Given the description of an element on the screen output the (x, y) to click on. 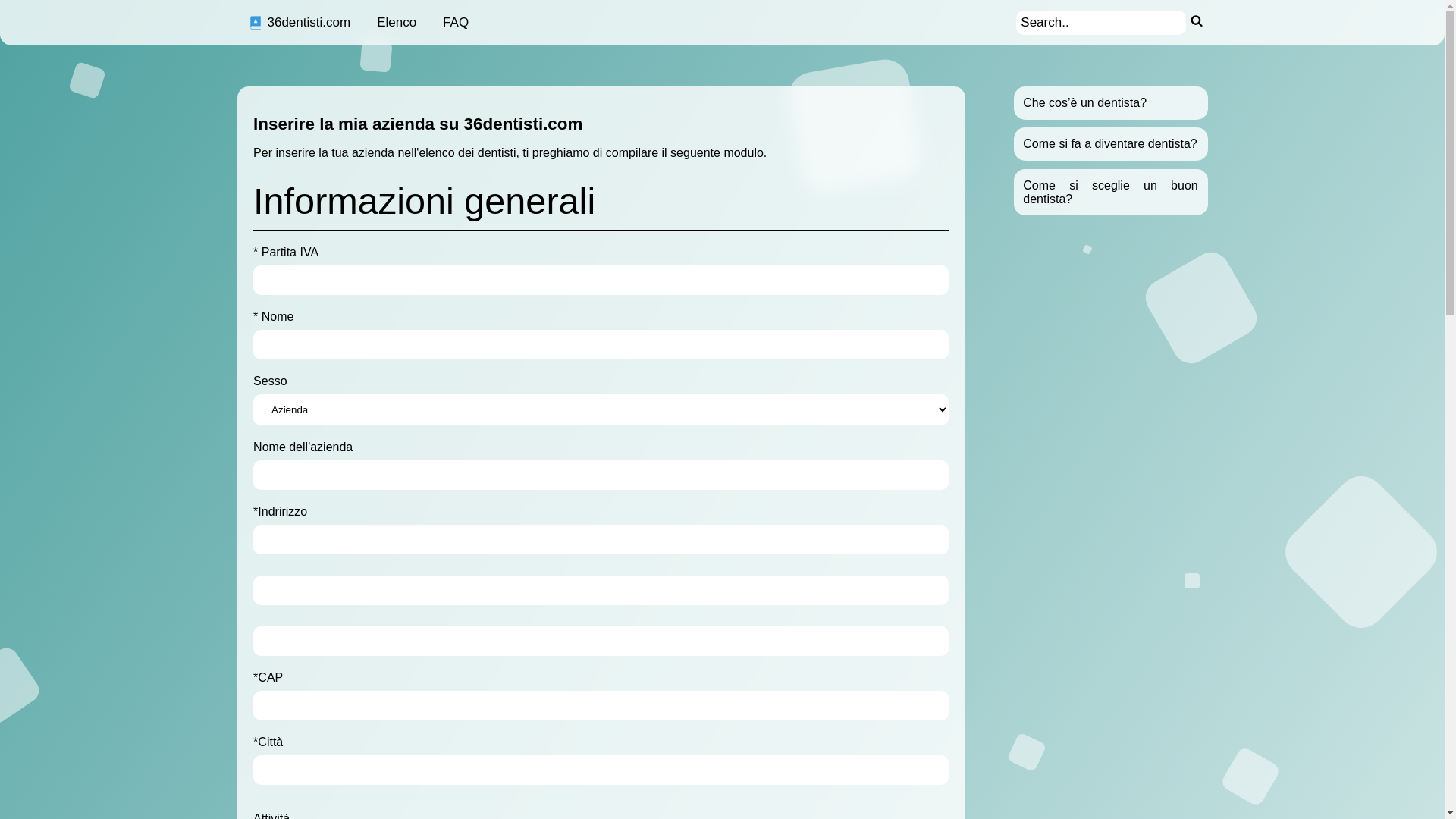
Elenco Element type: text (396, 22)
FAQ Element type: text (455, 22)
Come si sceglie un buon dentista? Element type: text (1109, 191)
Come si fa a diventare dentista? Element type: text (1109, 143)
36dentisti.com Element type: text (298, 22)
